Given the description of an element on the screen output the (x, y) to click on. 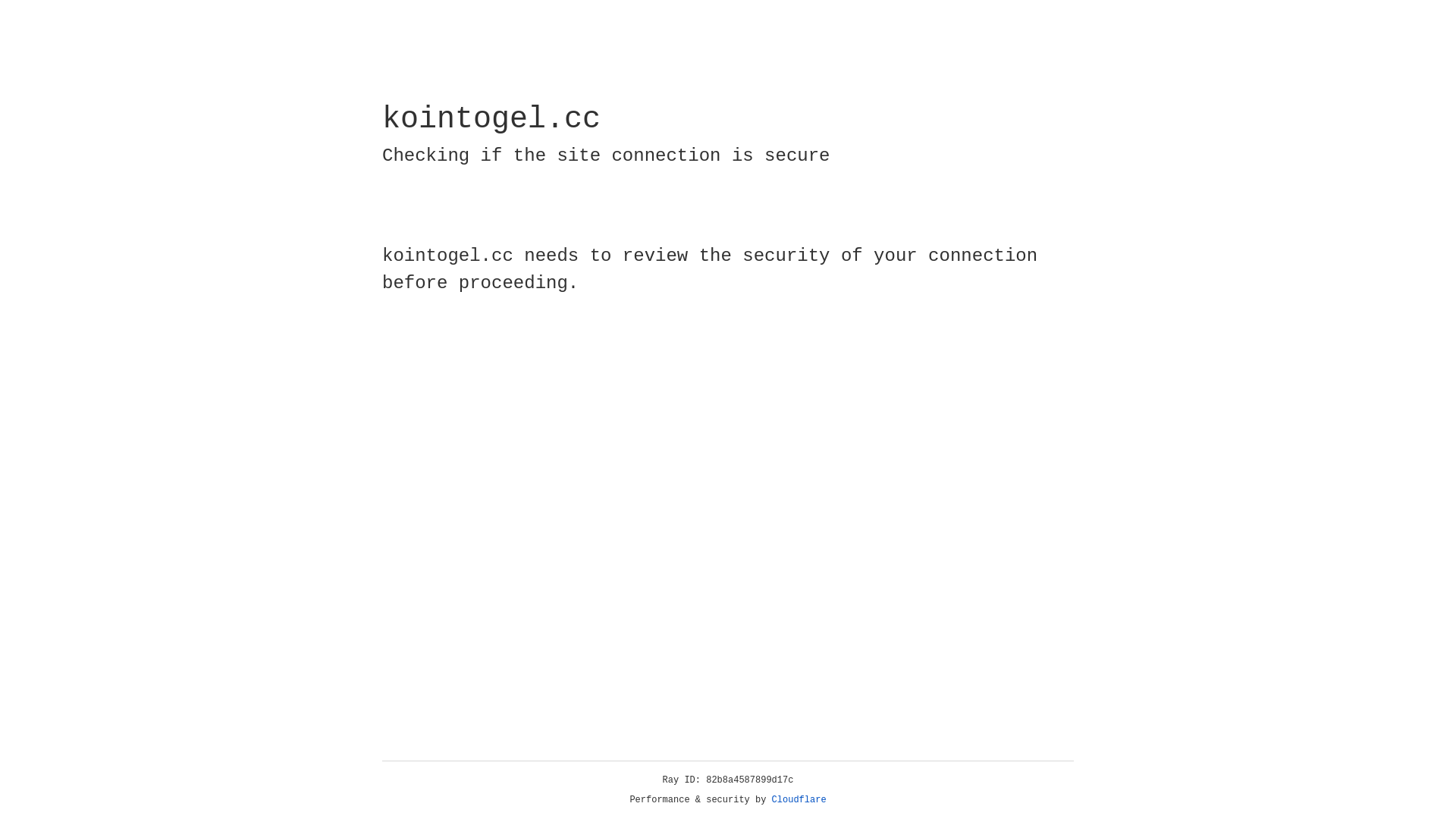
Cloudflare Element type: text (798, 799)
